Given the description of an element on the screen output the (x, y) to click on. 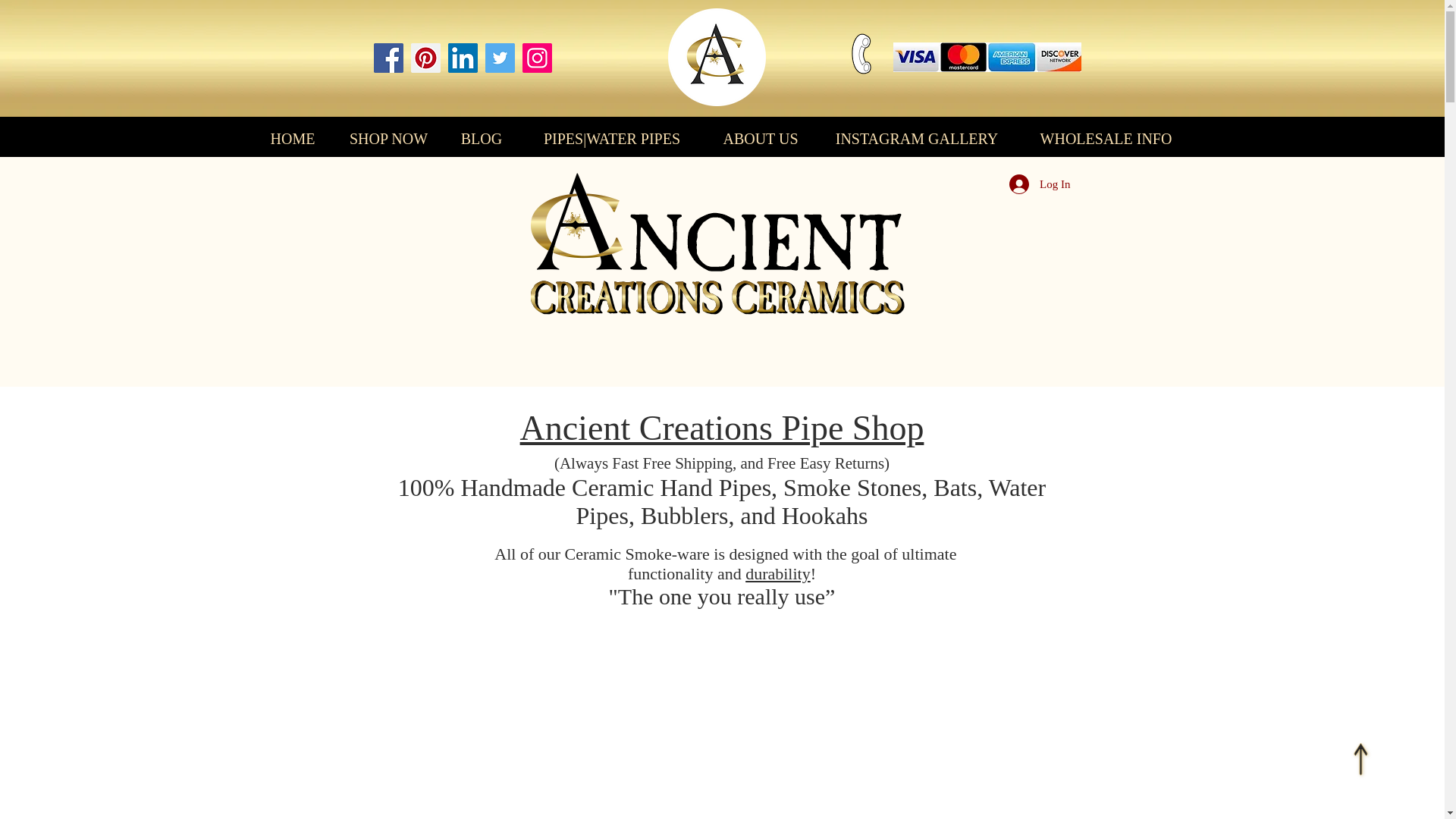
INSTAGRAM GALLERY (916, 138)
WHOLESALE INFO (1105, 138)
HOME (292, 138)
BLOG (480, 138)
ABOUT US (759, 138)
Log In (1039, 184)
SHOP NOW (387, 138)
All payment forms accepted by Ancient Creations Ceramics (987, 57)
durability (777, 573)
